Given the description of an element on the screen output the (x, y) to click on. 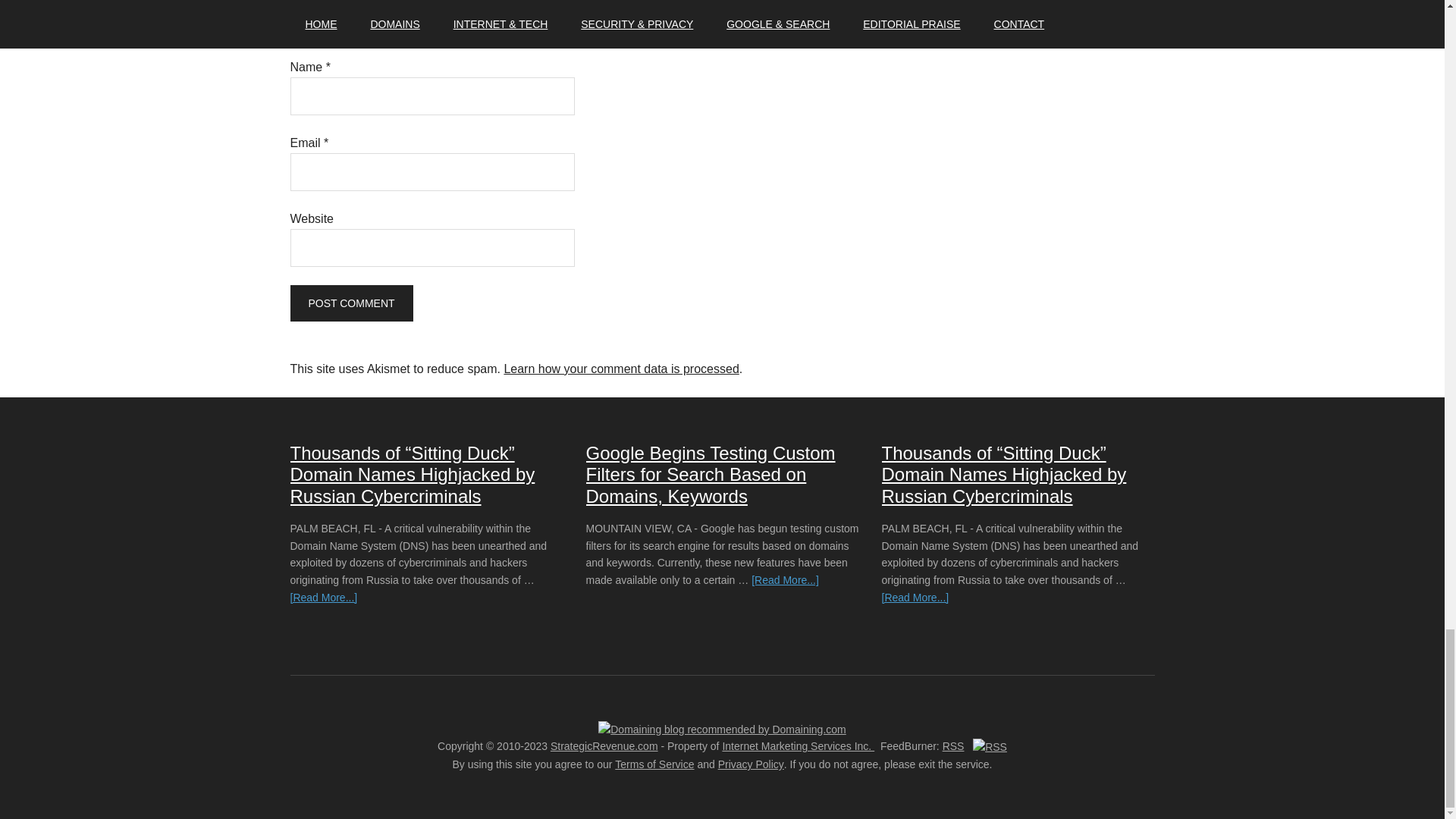
Post Comment (350, 303)
